Given the description of an element on the screen output the (x, y) to click on. 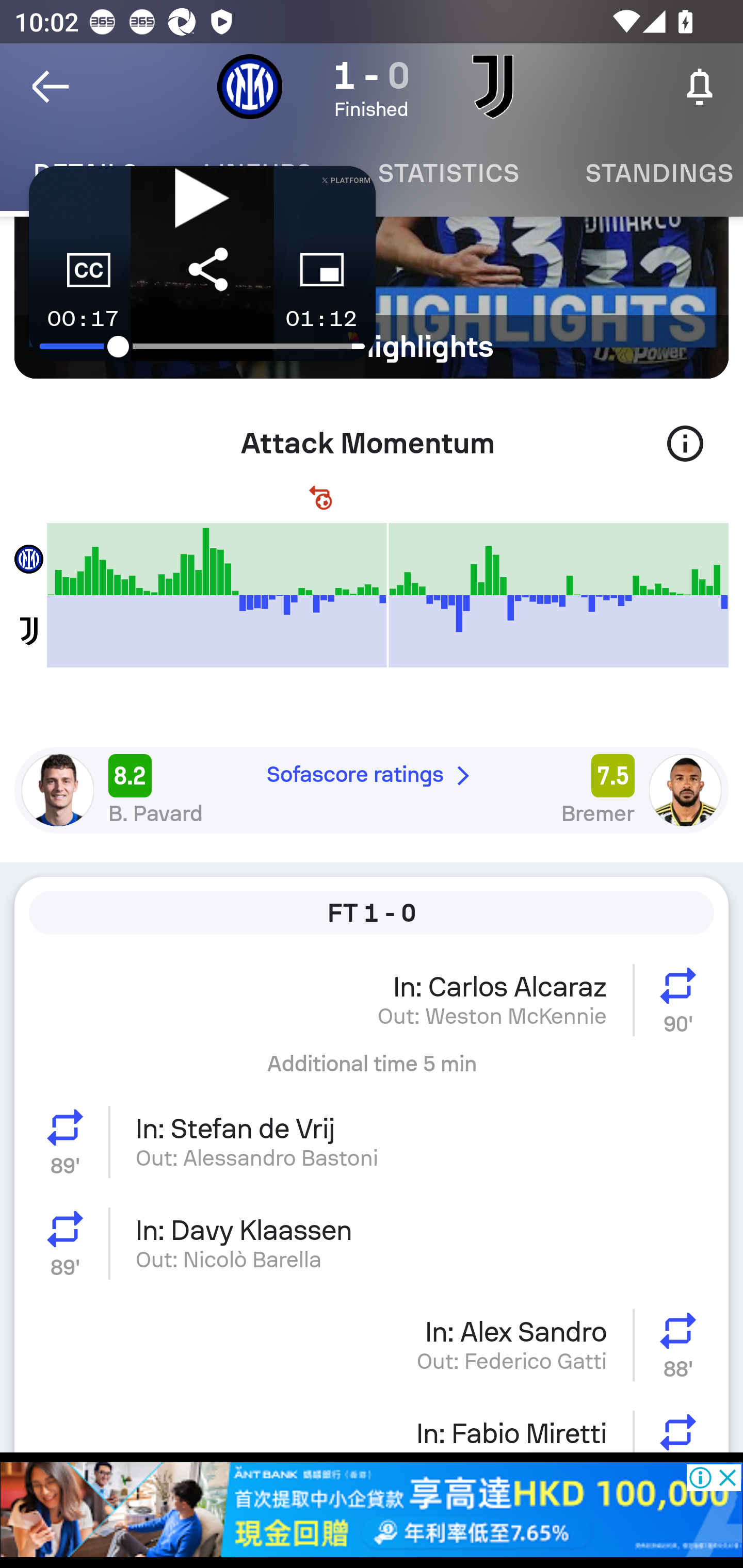
Navigate up (50, 86)
Statistics STATISTICS (448, 173)
Standings STANDINGS (647, 173)
8.2 Sofascore ratings 7.5 B. Pavard Bremer (371, 790)
FT 1 - 0 (371, 912)
Additional time 5 min (371, 1070)
